Given the description of an element on the screen output the (x, y) to click on. 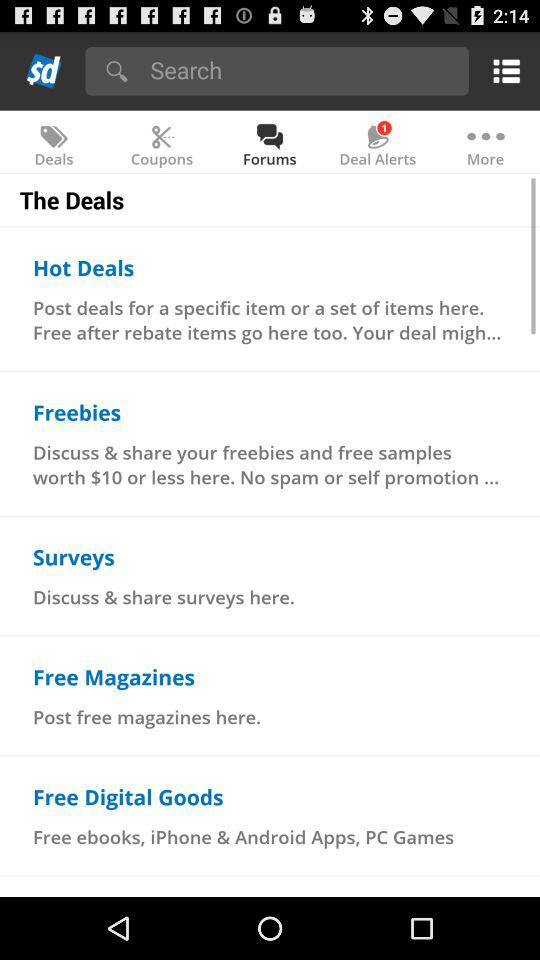
click app above the coupons item (302, 69)
